Given the description of an element on the screen output the (x, y) to click on. 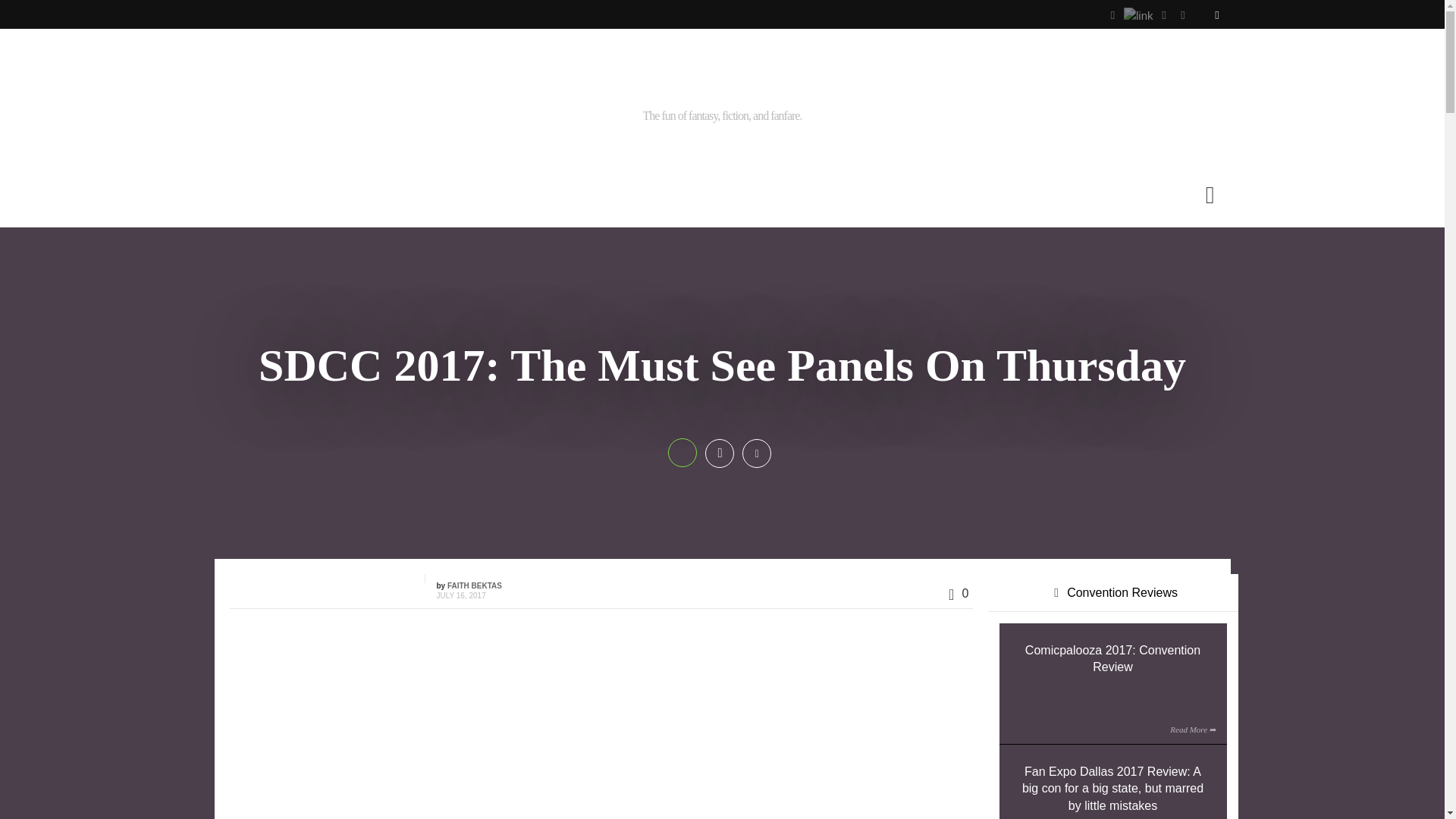
Comments (954, 594)
Instagram (1138, 14)
FAITH BEKTAS (474, 585)
Compare this (756, 452)
Click for full view (663, 725)
0 (954, 594)
